Given the description of an element on the screen output the (x, y) to click on. 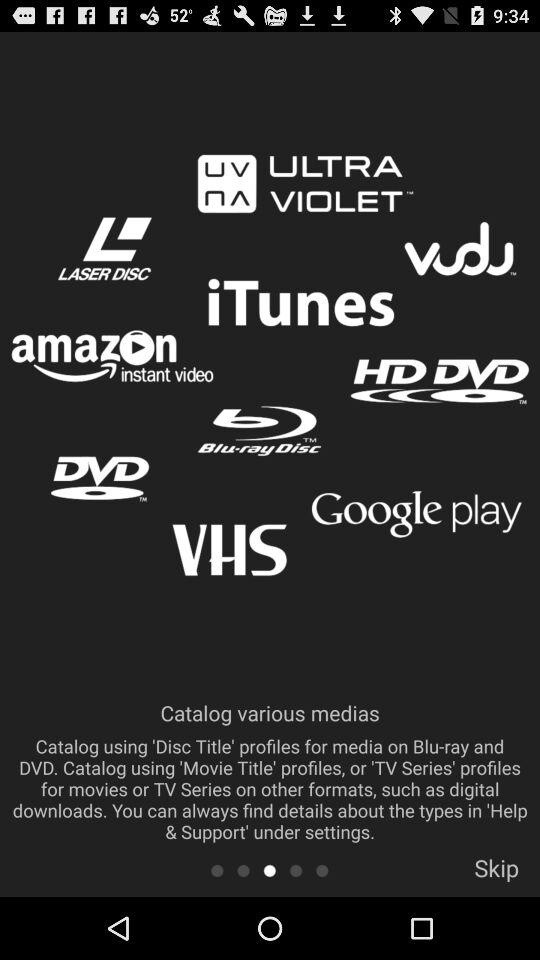
go to first page (216, 870)
